Given the description of an element on the screen output the (x, y) to click on. 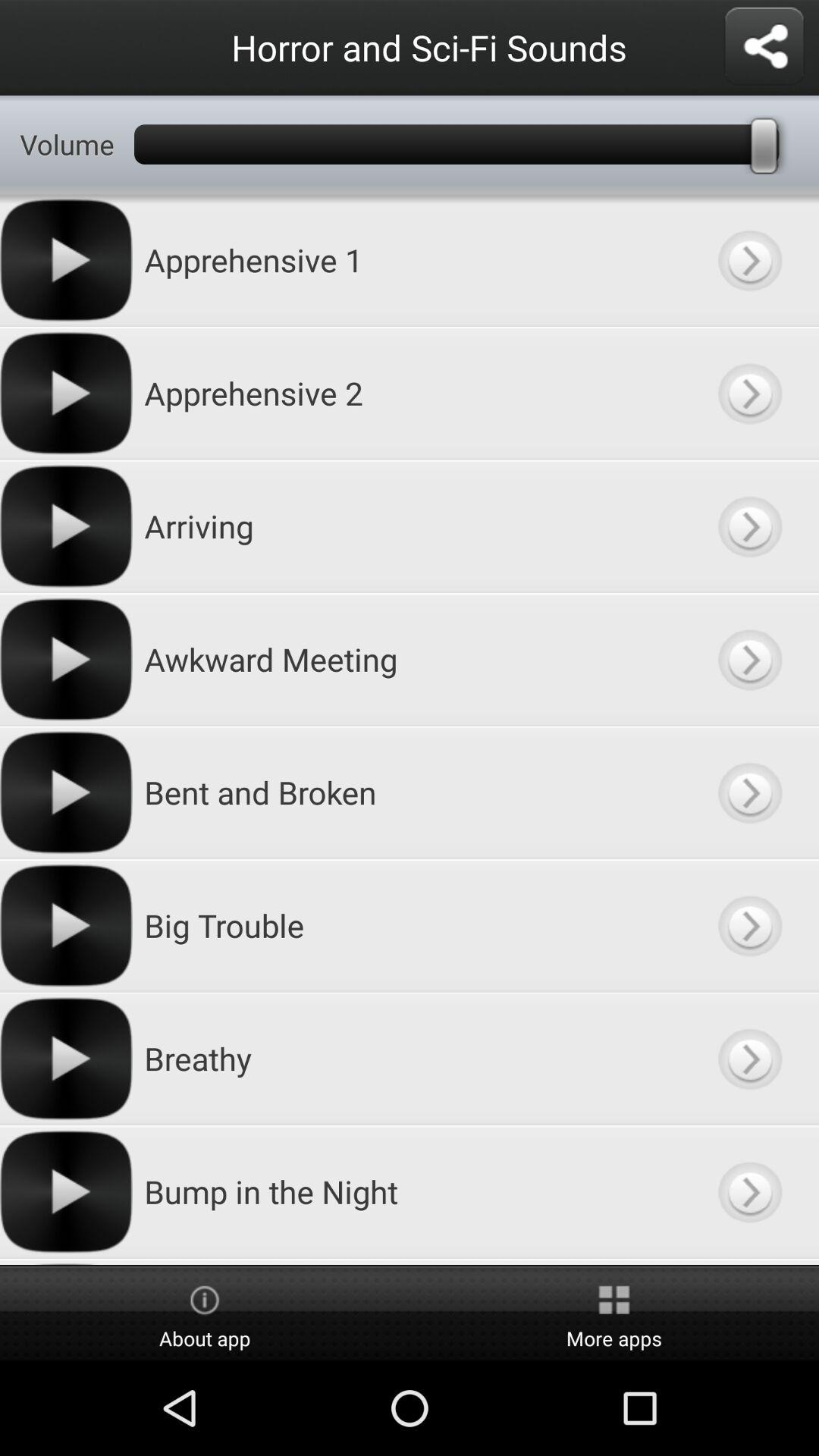
click on breathy (749, 1058)
